Given the description of an element on the screen output the (x, y) to click on. 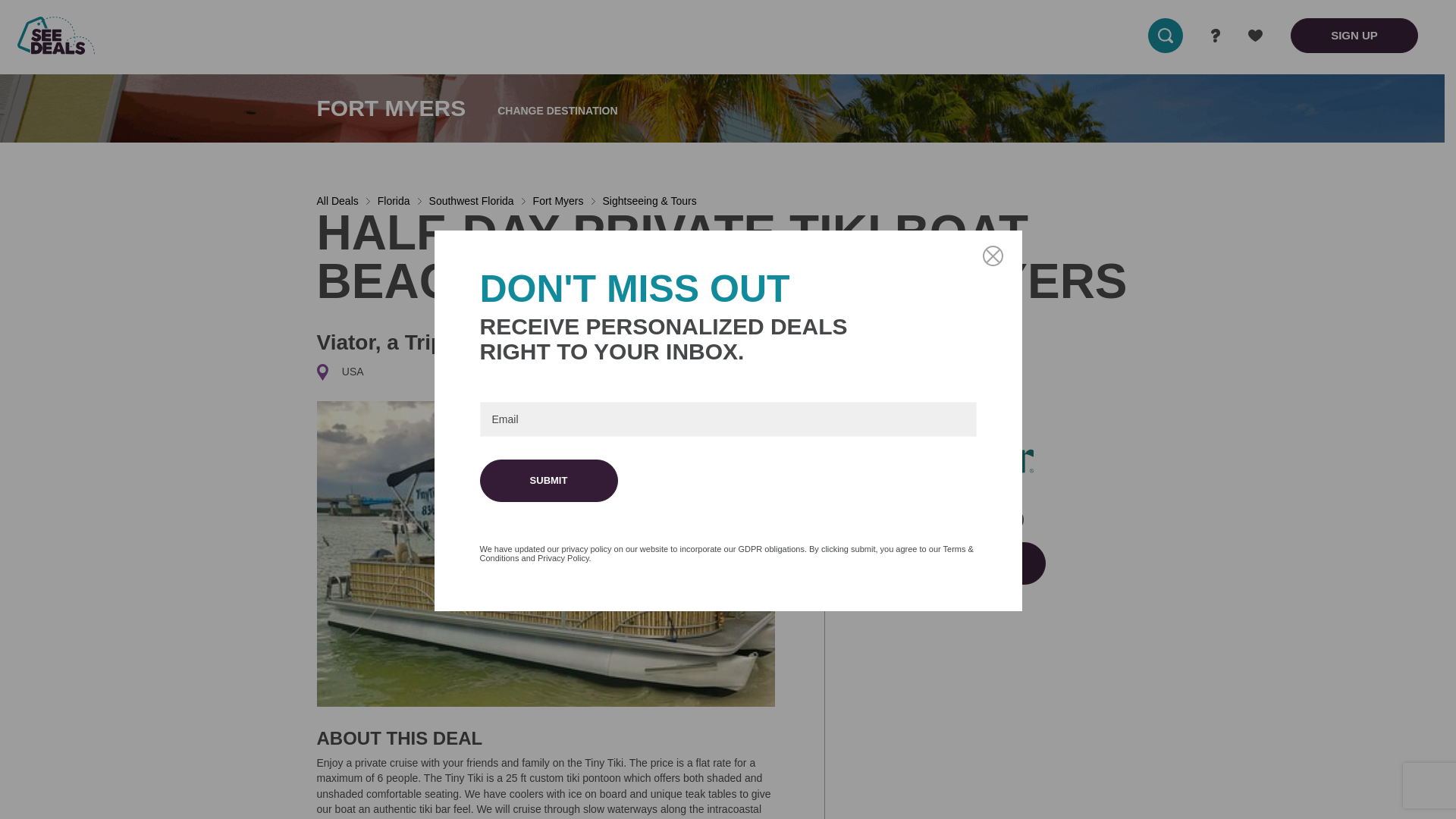
SIGN UP (1354, 35)
logo-viator (975, 458)
SUBMIT (548, 480)
